Given the description of an element on the screen output the (x, y) to click on. 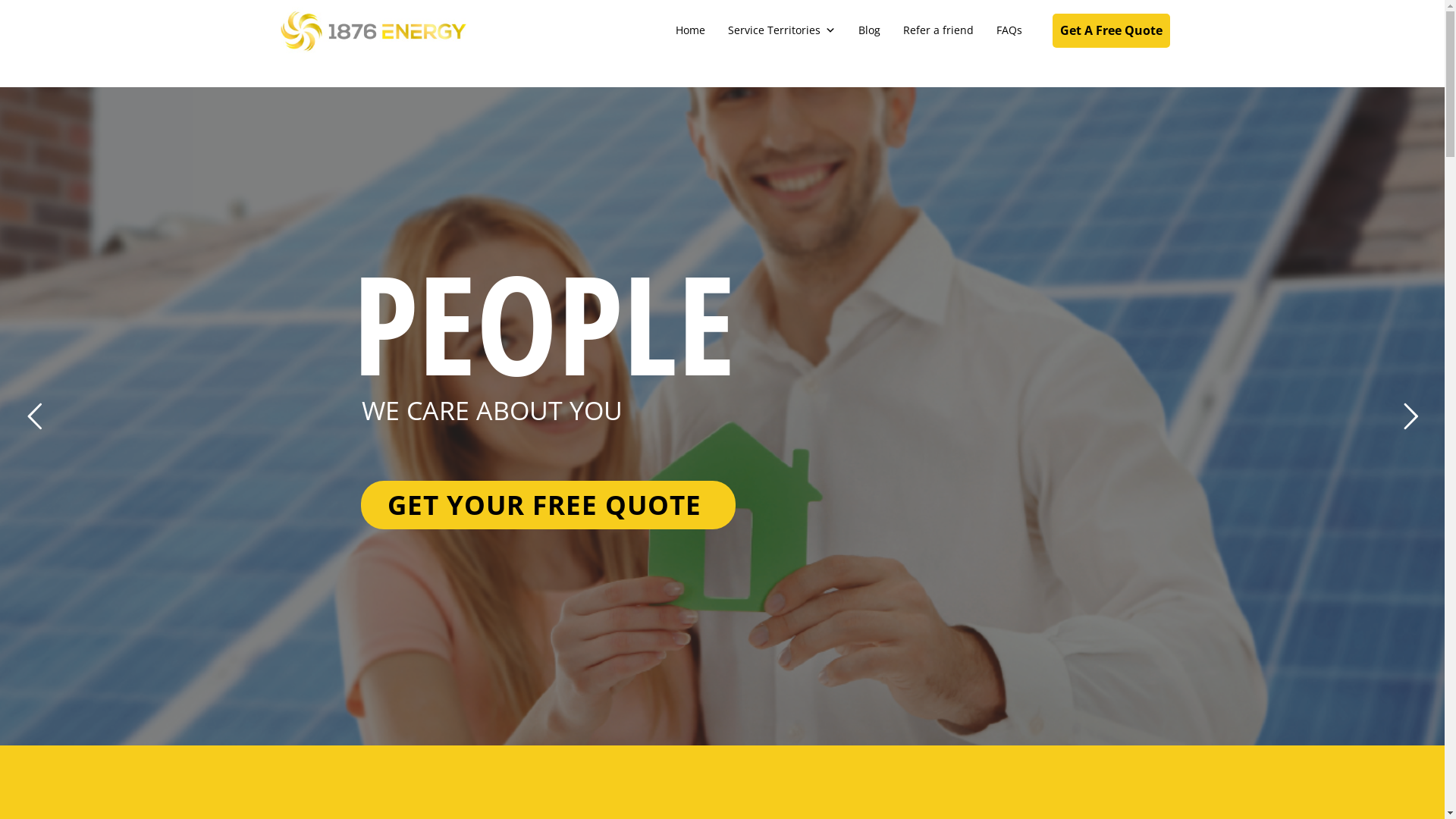
Refer a friend Element type: text (937, 30)
Blog Element type: text (869, 30)
Get A Free Quote Element type: text (1111, 30)
Service Territories Element type: text (781, 30)
FAQs Element type: text (1008, 30)
GET YOUR FREE QUOTE Element type: text (547, 509)
Home Element type: text (689, 30)
